Given the description of an element on the screen output the (x, y) to click on. 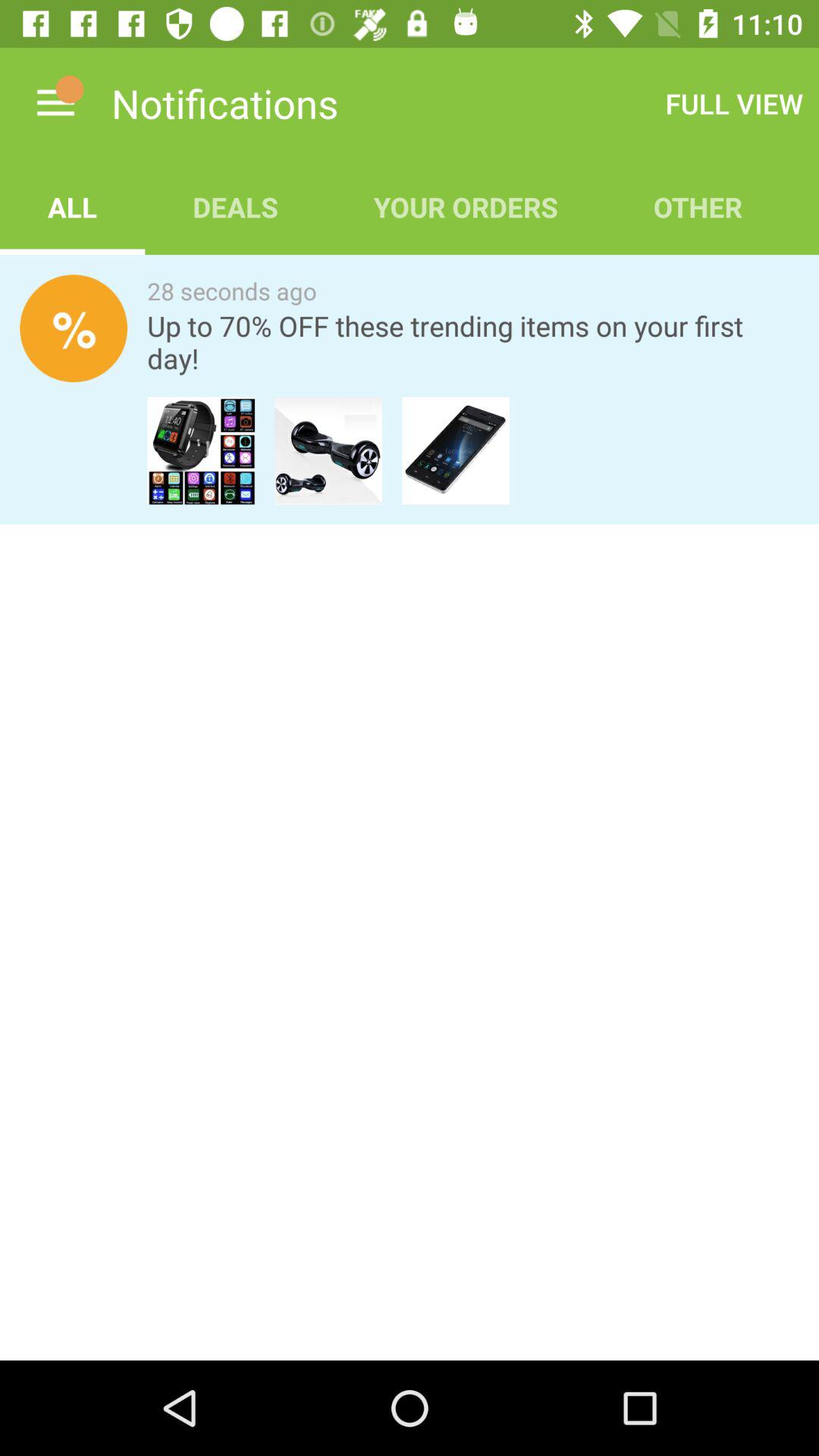
choose item to the left of other app (465, 206)
